Given the description of an element on the screen output the (x, y) to click on. 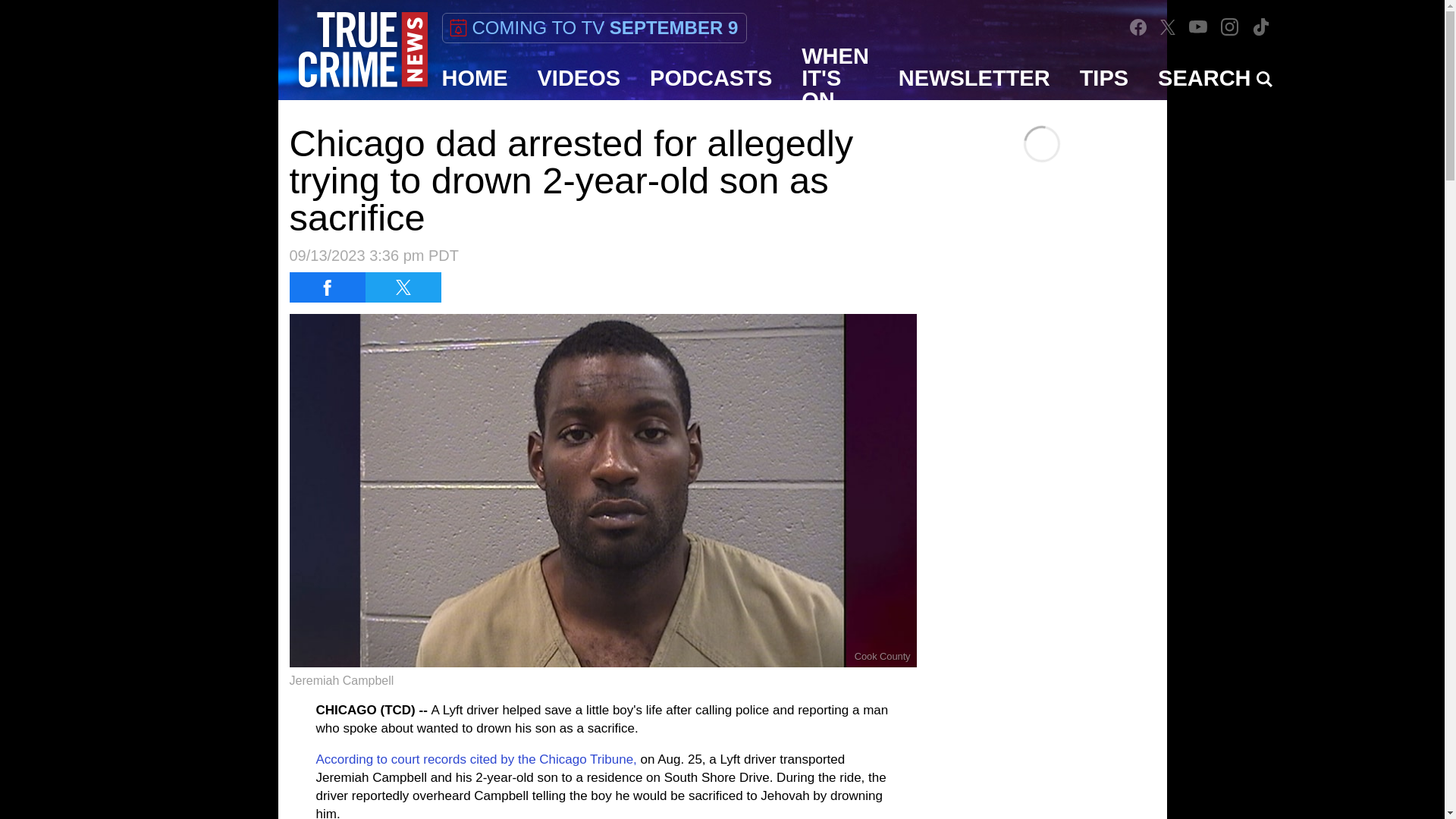
Facebook (1137, 27)
Twitter (1167, 26)
True Crime News (363, 49)
Instagram (1230, 27)
TikTok (1260, 26)
NEWSLETTER (974, 77)
SEARCH (1214, 77)
WHEN IT'S ON (835, 77)
YouTube (1198, 26)
VIDEOS (579, 77)
